Given the description of an element on the screen output the (x, y) to click on. 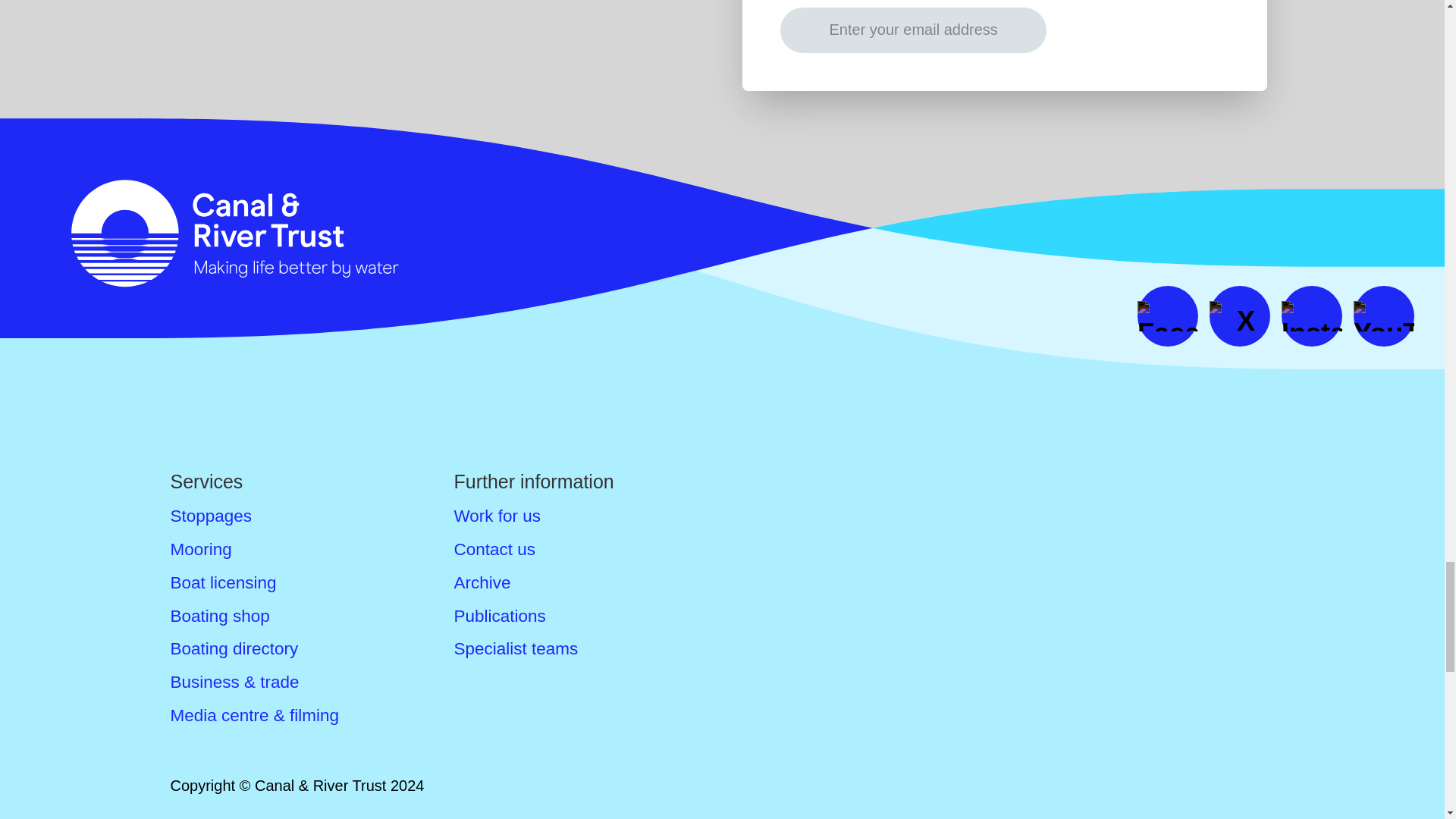
Stoppages (210, 515)
Mooring (200, 548)
Boating directory (234, 648)
Boat licensing (223, 582)
Sign up (1141, 30)
Boating shop (219, 615)
